Given the description of an element on the screen output the (x, y) to click on. 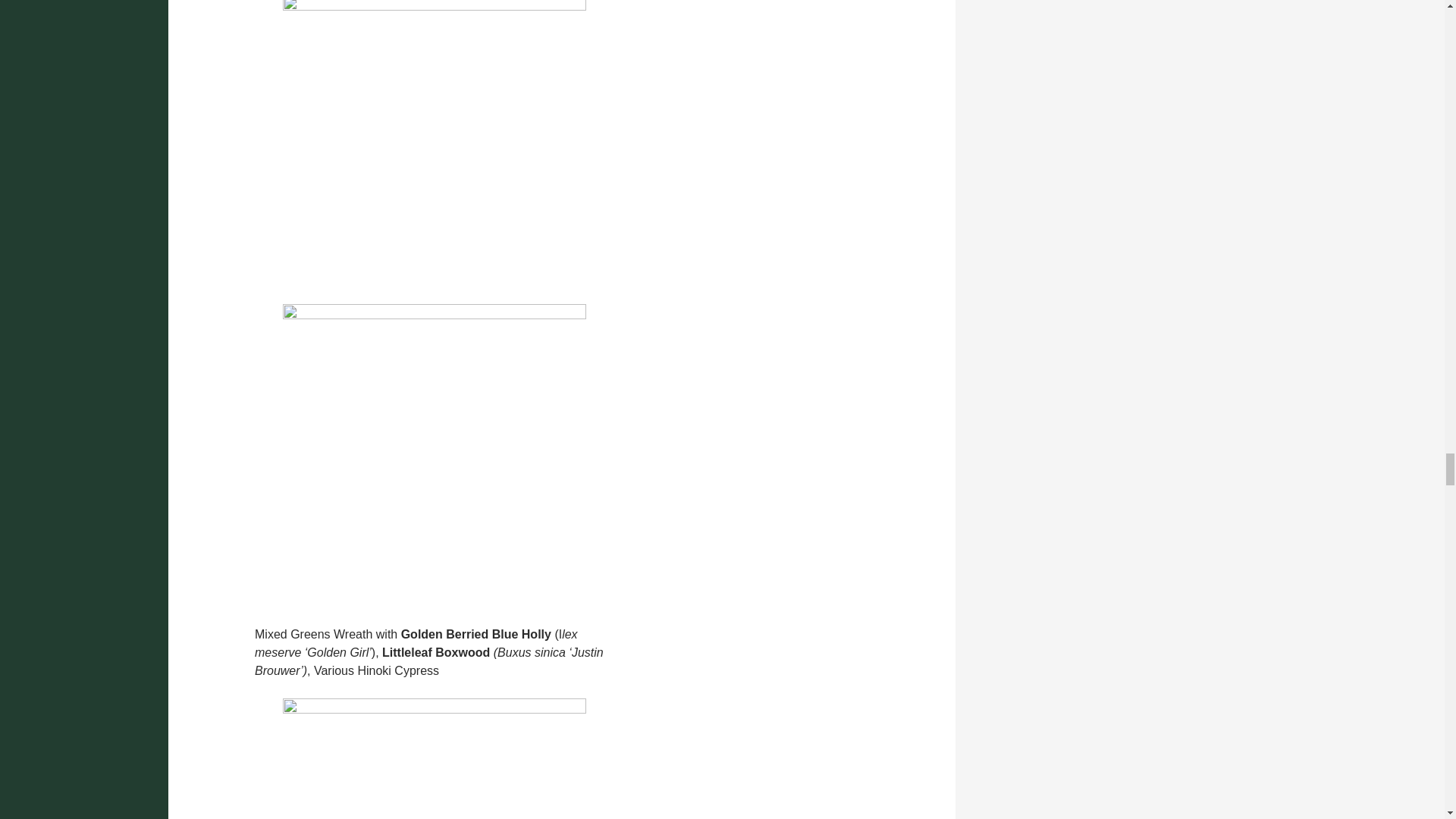
wreath.3.detail400 (434, 455)
box.holly400 (434, 758)
wreath3.2013.400 (434, 149)
